Given the description of an element on the screen output the (x, y) to click on. 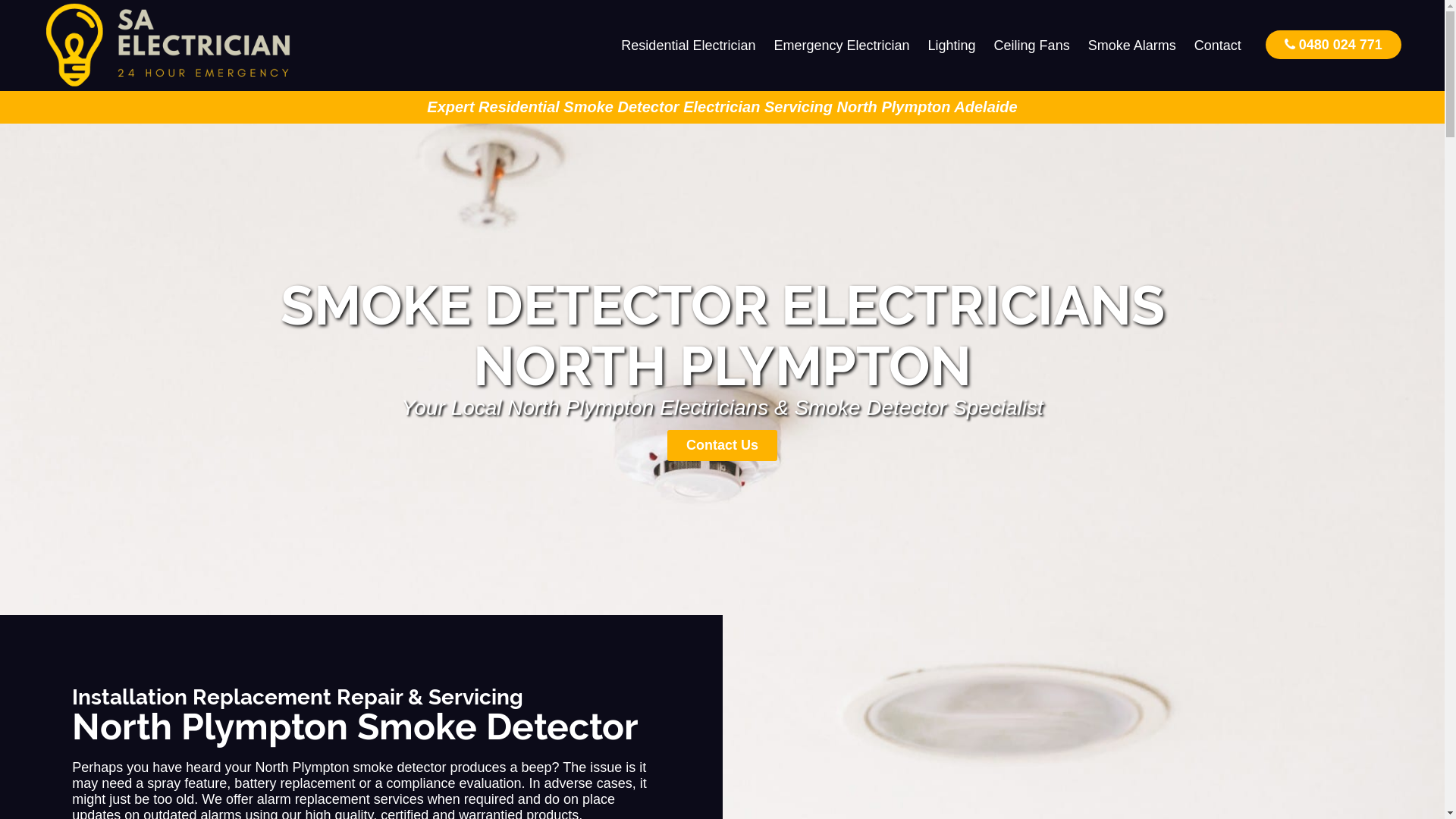
Emergency Electrician Element type: text (841, 45)
Contact Us Element type: text (722, 445)
0480 024 771 Element type: text (1333, 44)
Ceiling Fans Element type: text (1032, 45)
Smoke Alarms Element type: text (1132, 45)
Residential Electrician Element type: text (687, 45)
Lighting Element type: text (952, 45)
Contact Element type: text (1217, 45)
